Given the description of an element on the screen output the (x, y) to click on. 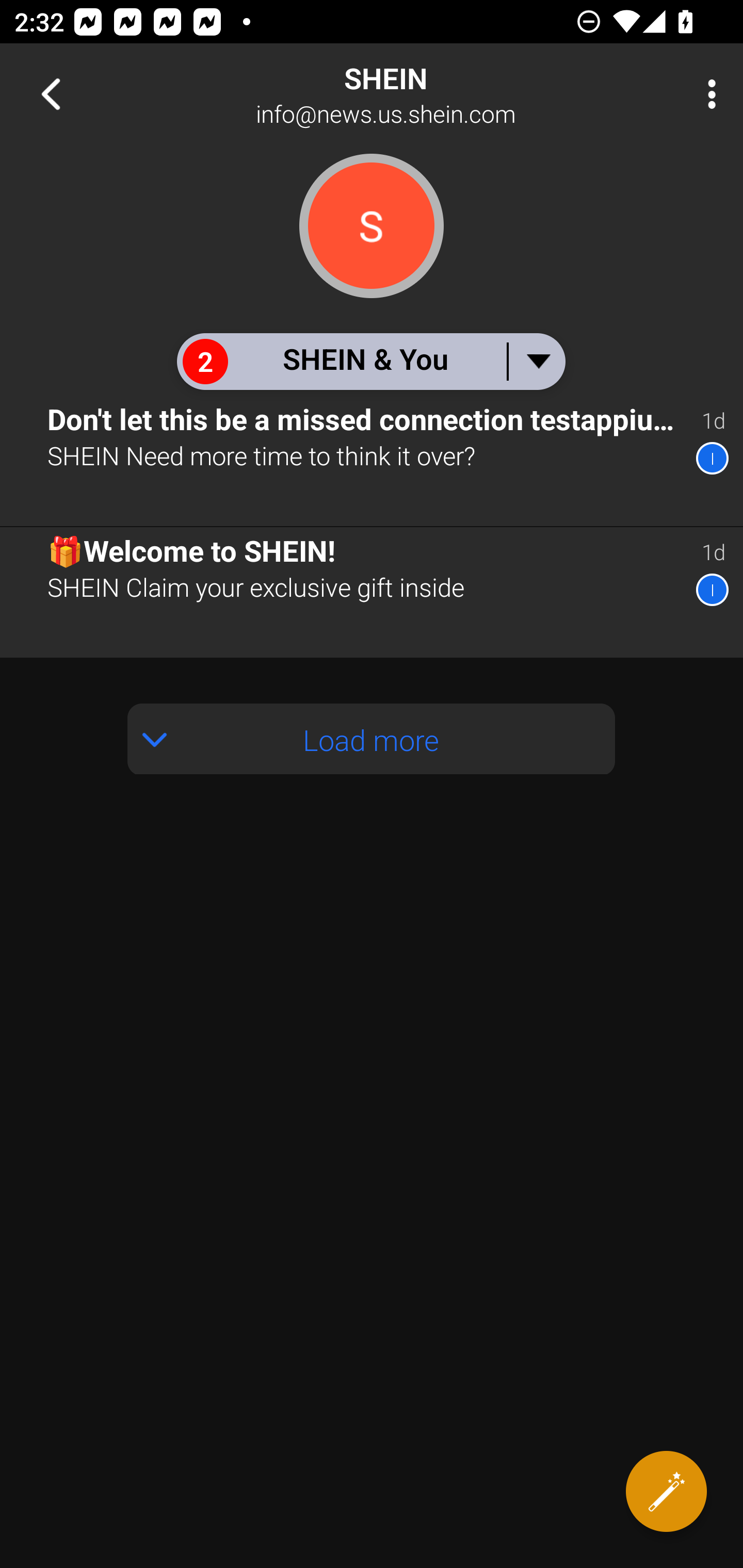
Navigate up (50, 93)
SHEIN info@news.us.shein.com (436, 93)
More Options (706, 93)
2 SHEIN & You (370, 361)
Load more (371, 739)
